Given the description of an element on the screen output the (x, y) to click on. 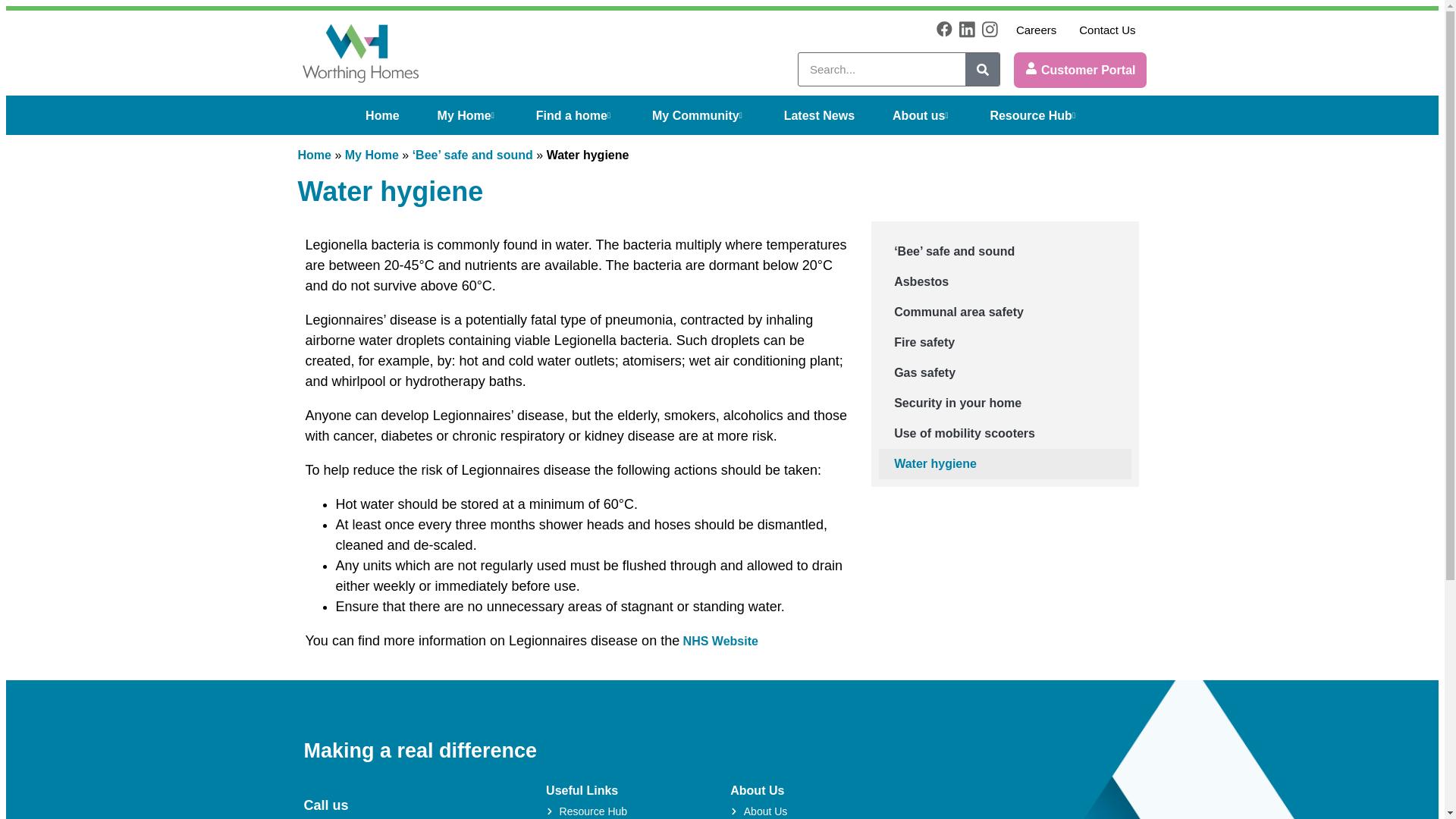
Customer Portal (1080, 69)
My Home (467, 115)
My Community (699, 115)
Home (381, 115)
Find a home (574, 115)
Contact Us (1107, 29)
Careers (1035, 29)
